Given the description of an element on the screen output the (x, y) to click on. 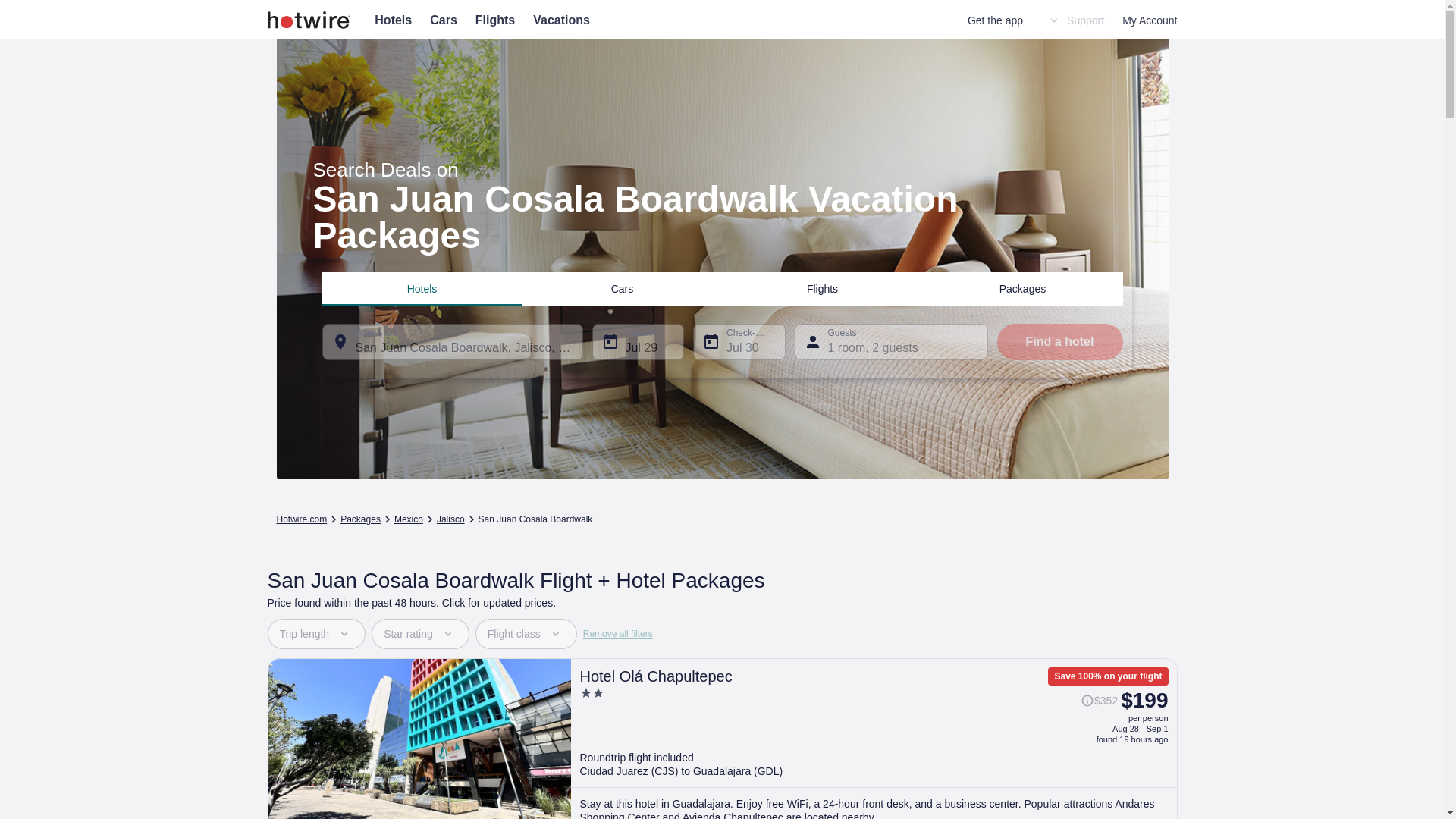
Cars (621, 287)
Flights (495, 19)
Mexico (408, 519)
Packages (1021, 287)
Vacations (560, 19)
Cars (443, 19)
Jalisco (450, 519)
Jul 29 (637, 340)
Get the app (995, 20)
Trip length (315, 634)
Hotels (421, 287)
Jul 30 (739, 340)
1 room, 2 guests (891, 340)
Packages (360, 519)
Support (1075, 20)
